Given the description of an element on the screen output the (x, y) to click on. 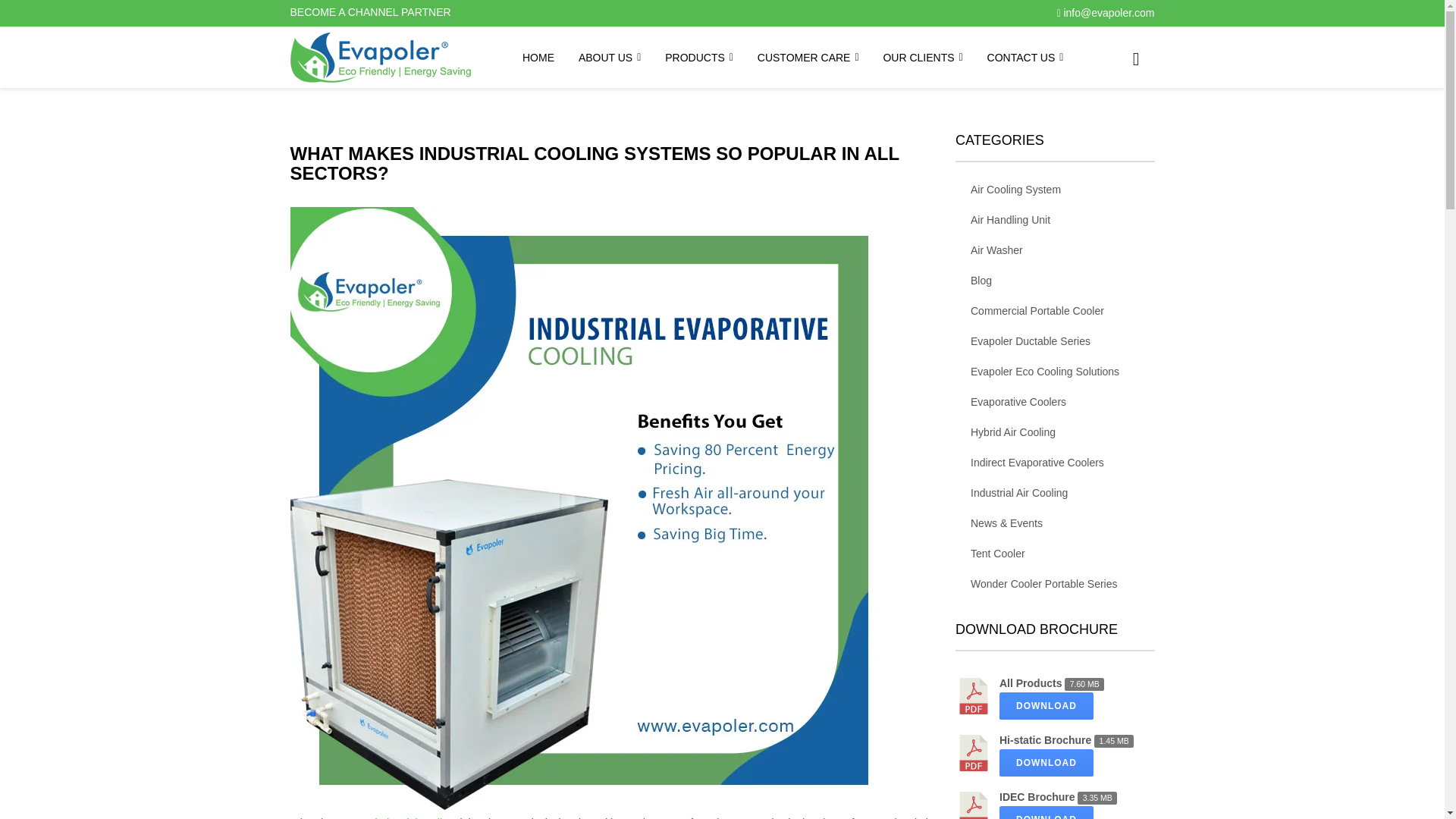
OUR CLIENTS (922, 57)
CUSTOMER CARE (808, 57)
BECOME A CHANNEL PARTNER (377, 12)
PRODUCTS (699, 57)
ABOUT US (609, 57)
